Given the description of an element on the screen output the (x, y) to click on. 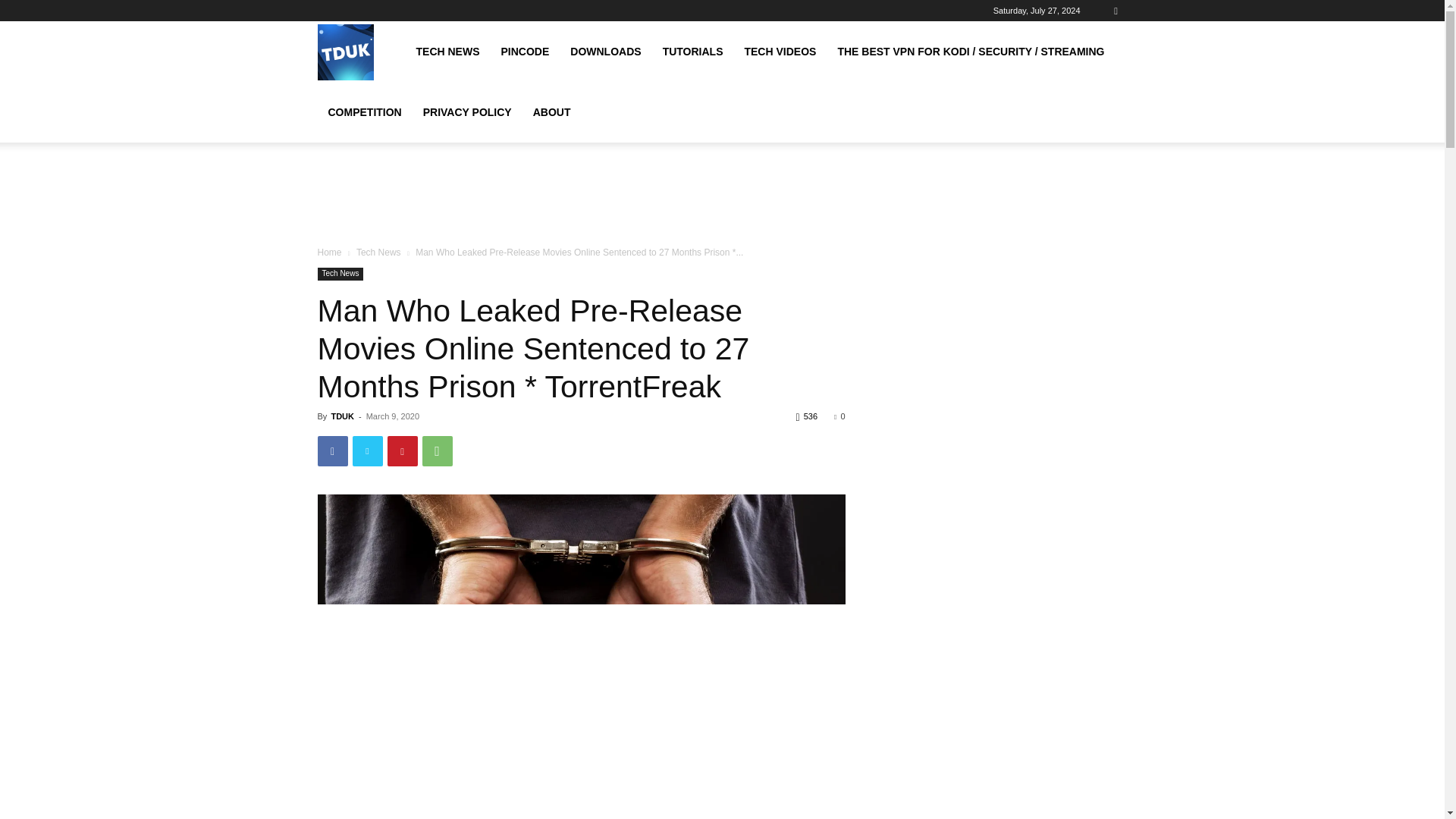
Advertisement (721, 194)
Search (1085, 64)
TechDoctorUK (344, 51)
0 (839, 415)
DOWNLOADS (604, 51)
TUTORIALS (692, 51)
Twitter (366, 450)
Pinterest (401, 450)
Home (328, 252)
PRIVACY POLICY (467, 111)
View all posts in Tech News (378, 252)
TECH NEWS (446, 51)
WhatsApp (436, 450)
Tech News (339, 273)
arrest-feat.jpg (580, 549)
